Given the description of an element on the screen output the (x, y) to click on. 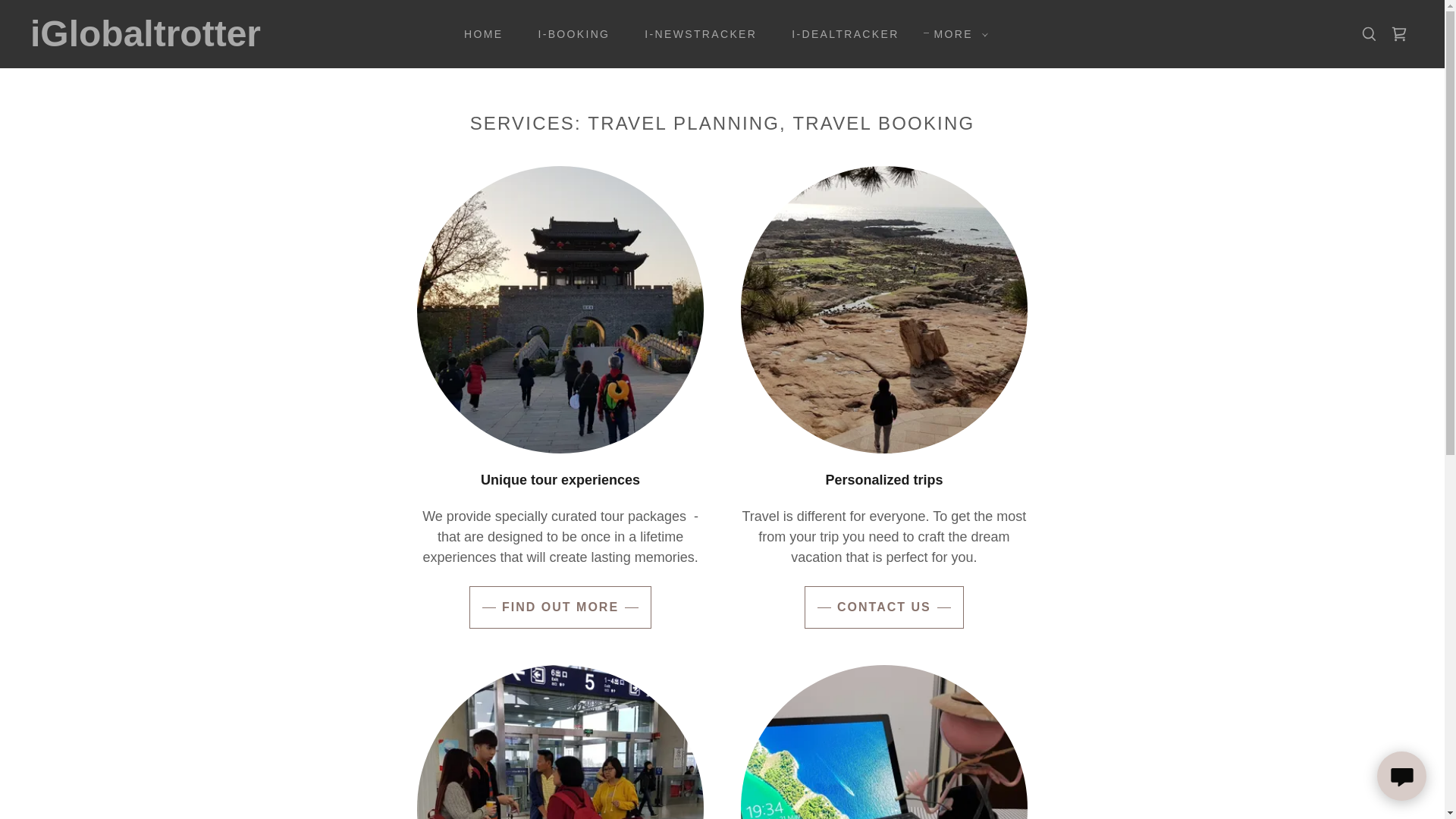
I-BOOKING (568, 33)
MORE (957, 34)
I-DEALTRACKER (839, 33)
iGlobaltrotter (226, 41)
HOME (477, 33)
I-NEWSTRACKER (694, 33)
iGlobaltrotter (226, 41)
